Given the description of an element on the screen output the (x, y) to click on. 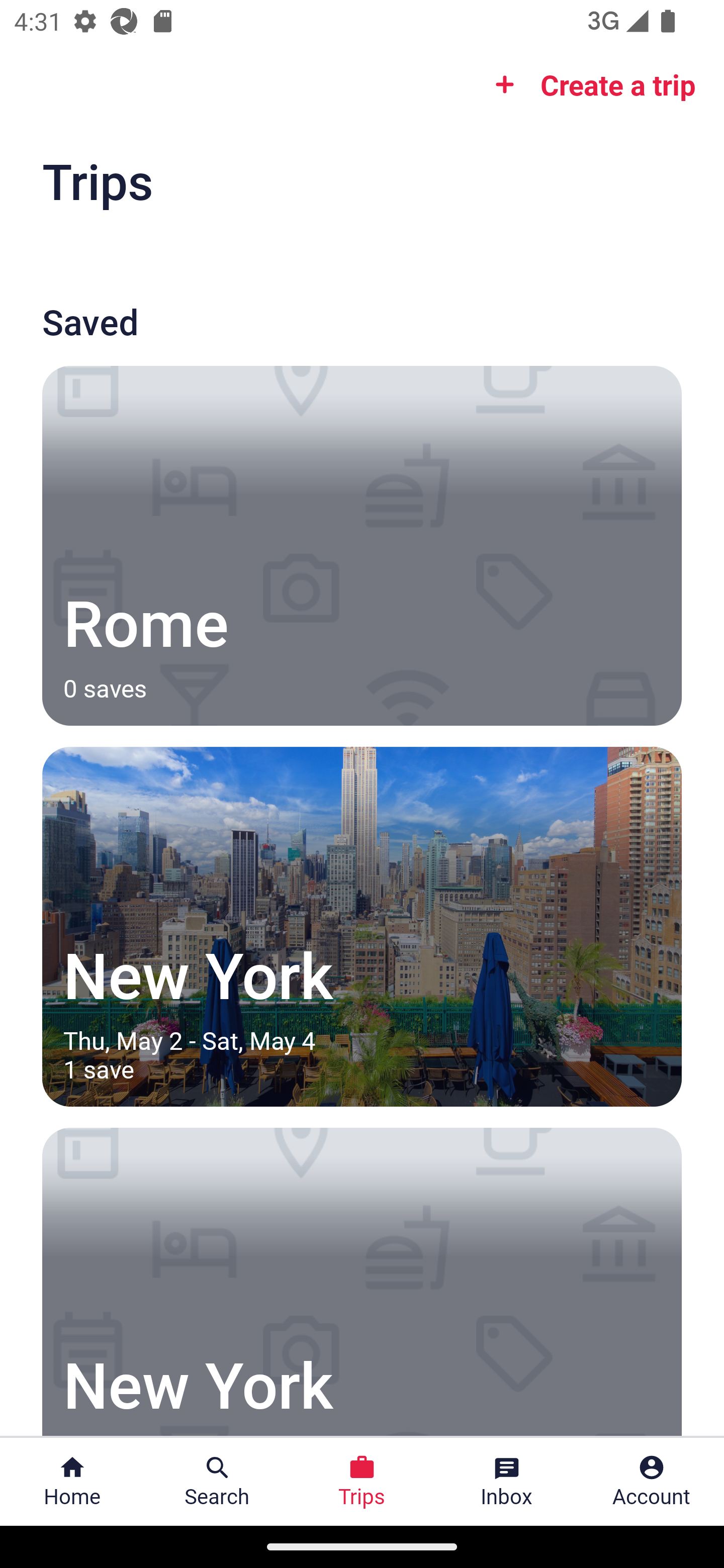
Create a trip Create a trip Button (589, 84)
Rome. 0 saves.  Button Rome 0 saves (361, 545)
New York. 0 saves.  Button New York 0 saves (361, 1281)
Home Home Button (72, 1481)
Search Search Button (216, 1481)
Inbox Inbox Button (506, 1481)
Account Profile. Button (651, 1481)
